Given the description of an element on the screen output the (x, y) to click on. 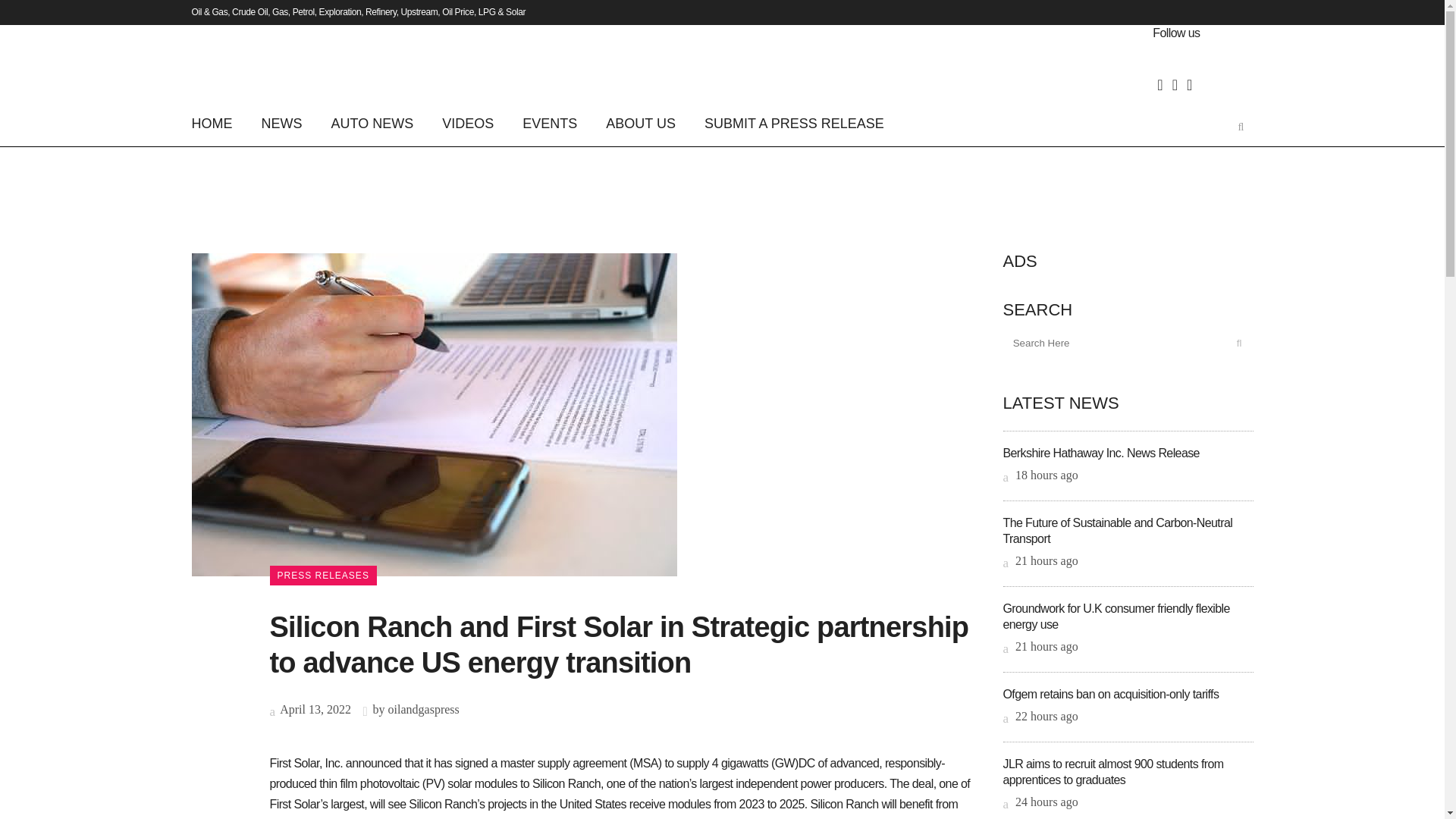
SUBMIT A PRESS RELEASE (794, 123)
VIDEOS (468, 123)
ABOUT US (640, 123)
AUTO NEWS (372, 123)
PRESS RELEASES (323, 575)
The Future of Sustainable and Carbon-Neutral Transport (1117, 530)
EVENTS (549, 123)
Groundwork for U.K consumer friendly flexible energy use (1115, 615)
NEWS (282, 123)
April 13, 2022 (309, 708)
oilandgaspress (424, 708)
Ofgem retains ban on acquisition-only tariffs (1110, 694)
HOME (218, 123)
Berkshire Hathaway Inc. News Release (1100, 452)
